Given the description of an element on the screen output the (x, y) to click on. 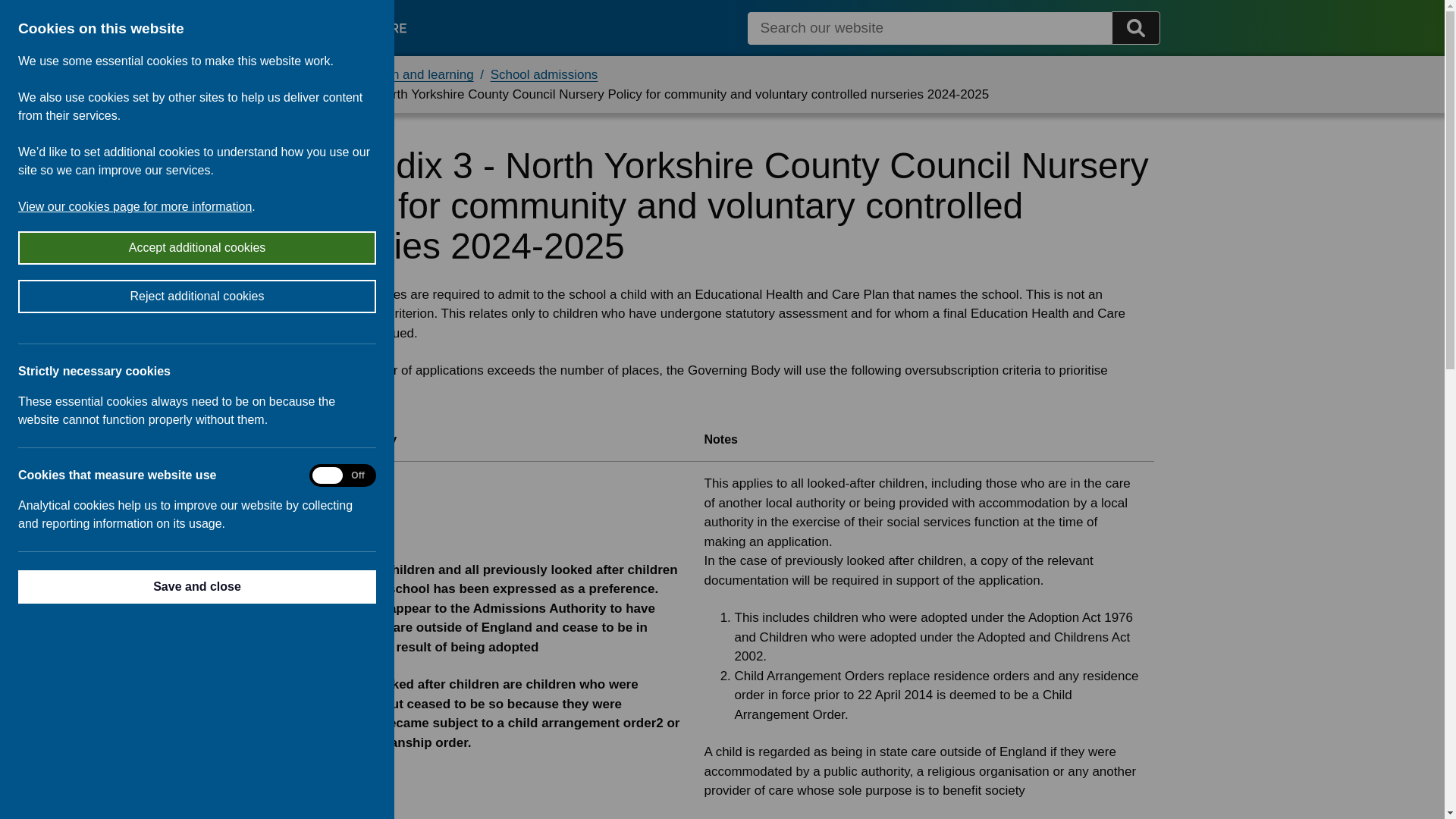
Home (307, 74)
School admissions (544, 74)
Education and learning (408, 74)
Reject additional cookies (104, 296)
Search (1136, 28)
Skip to main content (12, 12)
Search (1136, 28)
Accept additional cookies (71, 247)
Search (930, 28)
Save and close (130, 586)
